Given the description of an element on the screen output the (x, y) to click on. 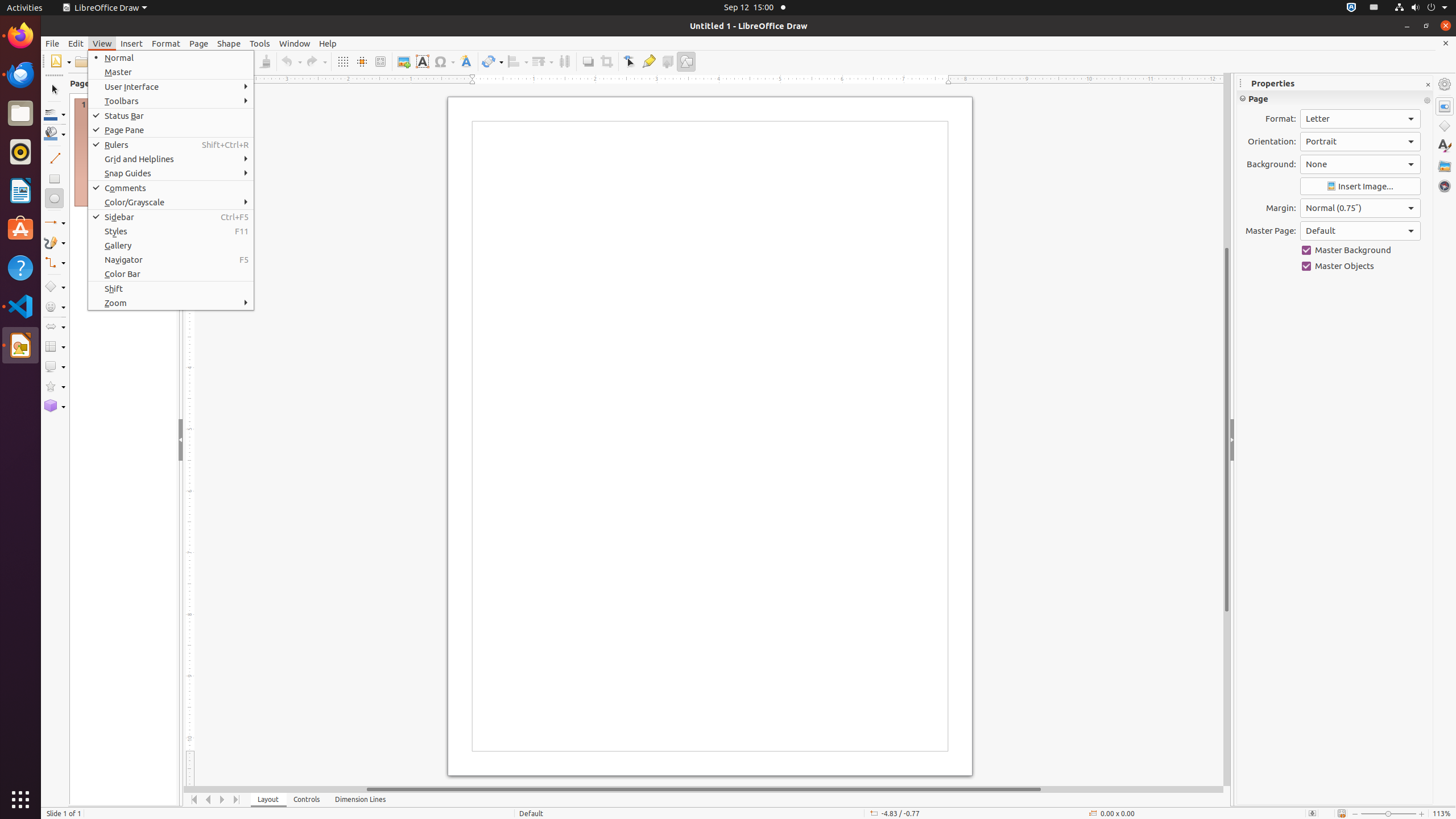
Fontwork Style Element type: toggle-button (465, 61)
More Options Element type: push-button (1426, 100)
Close Sidebar Deck Element type: push-button (1427, 84)
Gallery Element type: menu-item (170, 245)
Shapes Element type: radio-button (1444, 126)
